Given the description of an element on the screen output the (x, y) to click on. 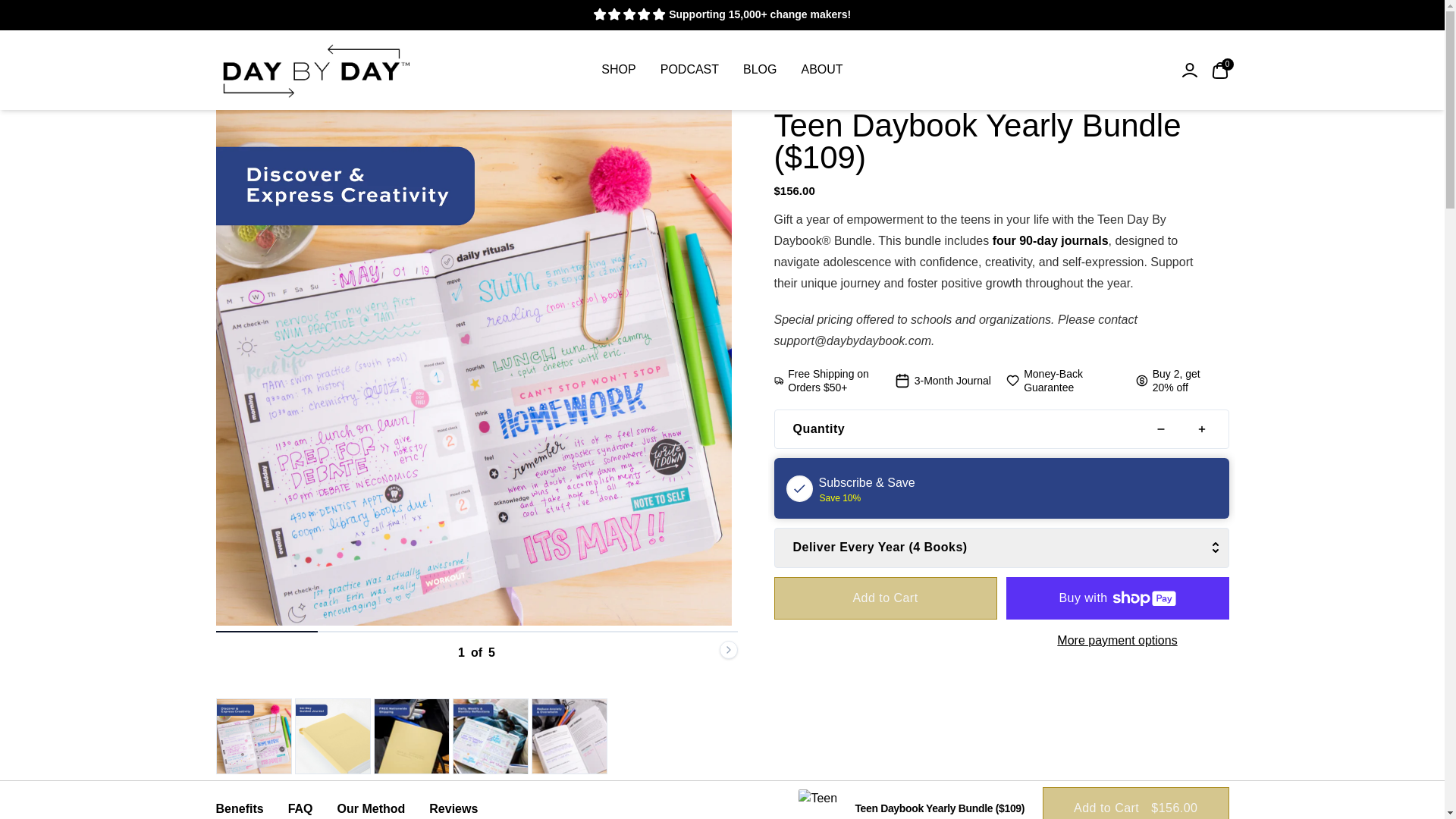
SHOP (618, 69)
PODCAST (1218, 69)
BLOG (690, 69)
Login (821, 69)
